Given the description of an element on the screen output the (x, y) to click on. 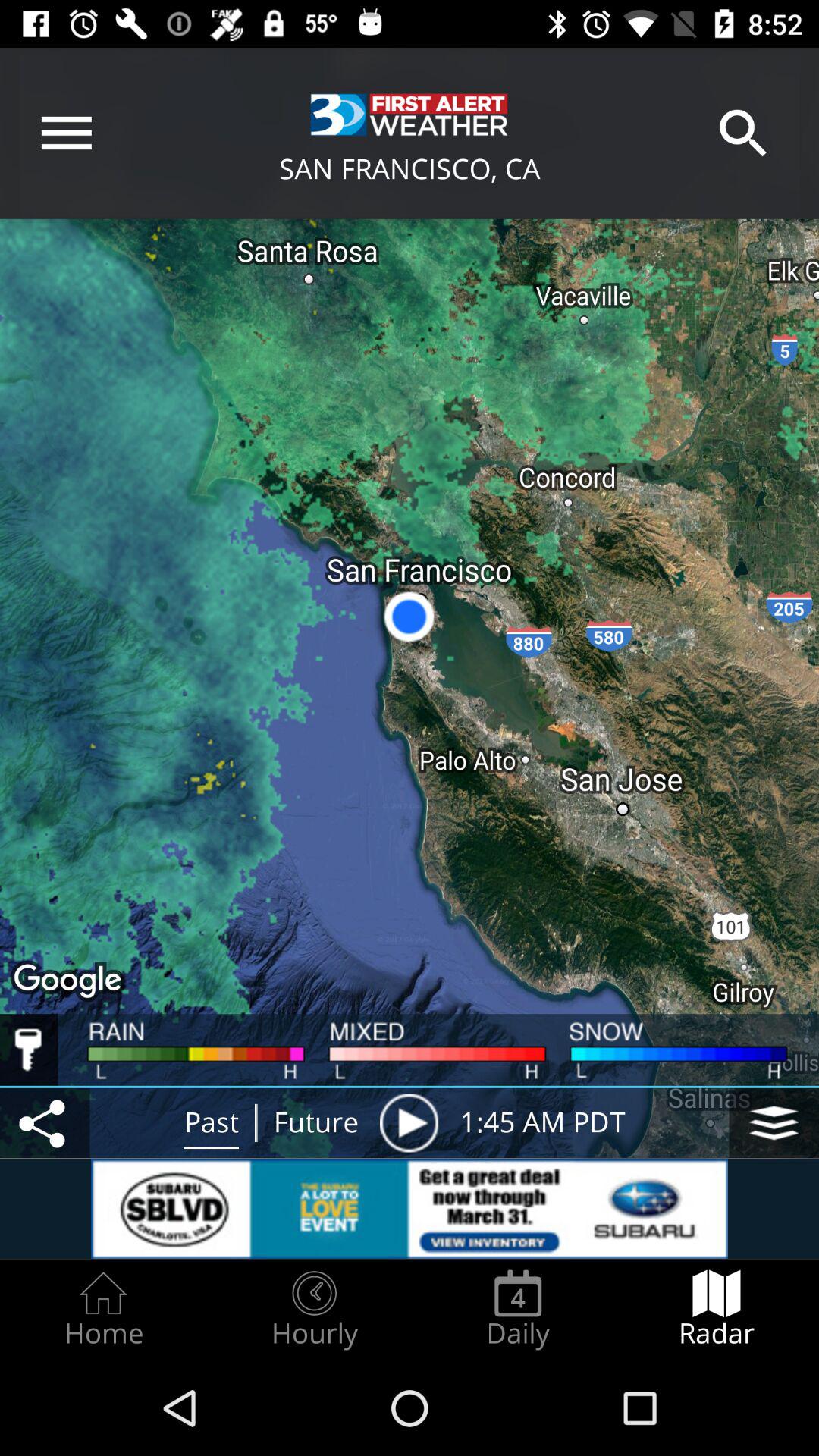
share weather (44, 1122)
